Given the description of an element on the screen output the (x, y) to click on. 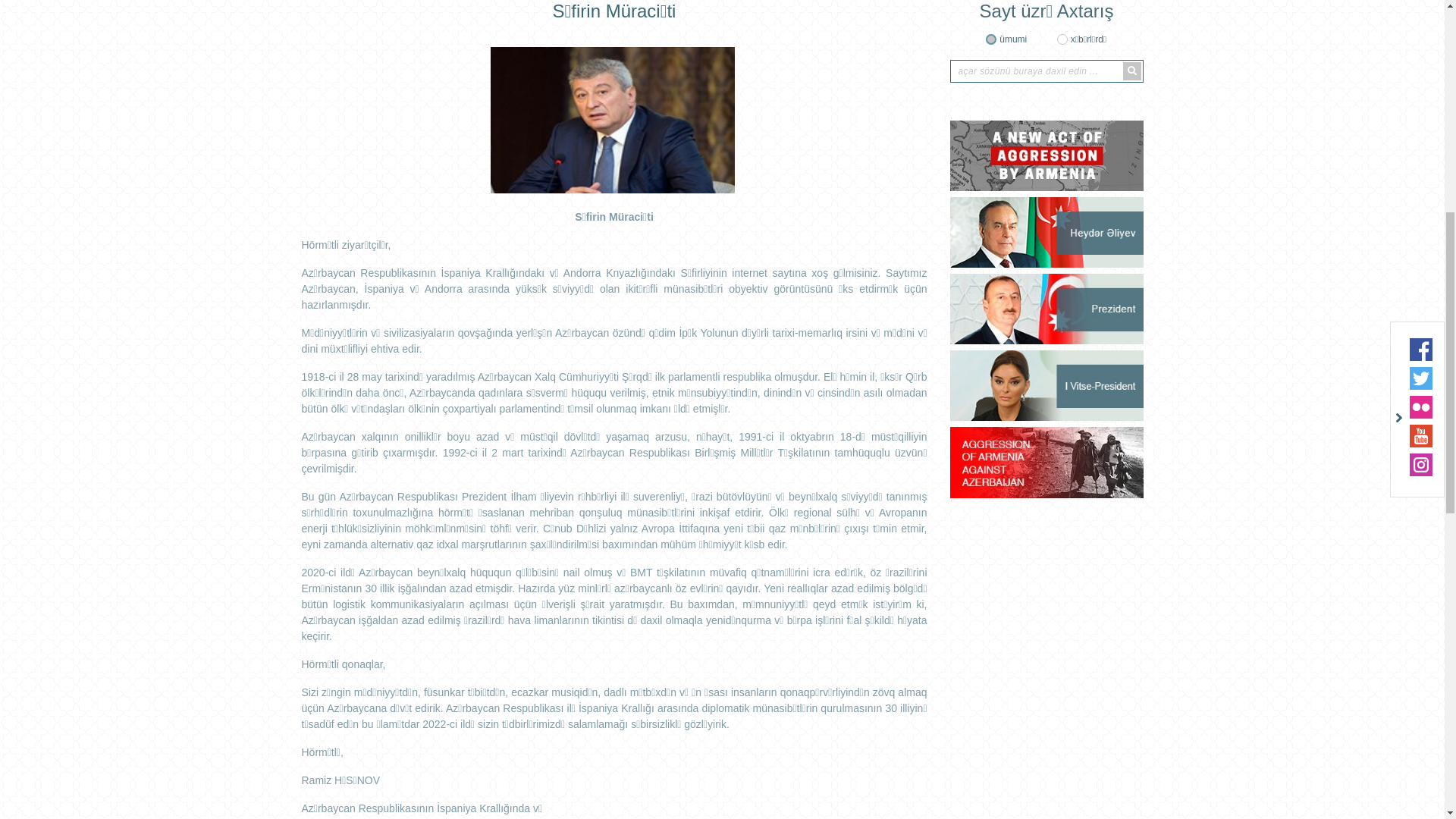
ES Element type: text (1133, 110)
AZ Element type: text (1109, 110)
